Given the description of an element on the screen output the (x, y) to click on. 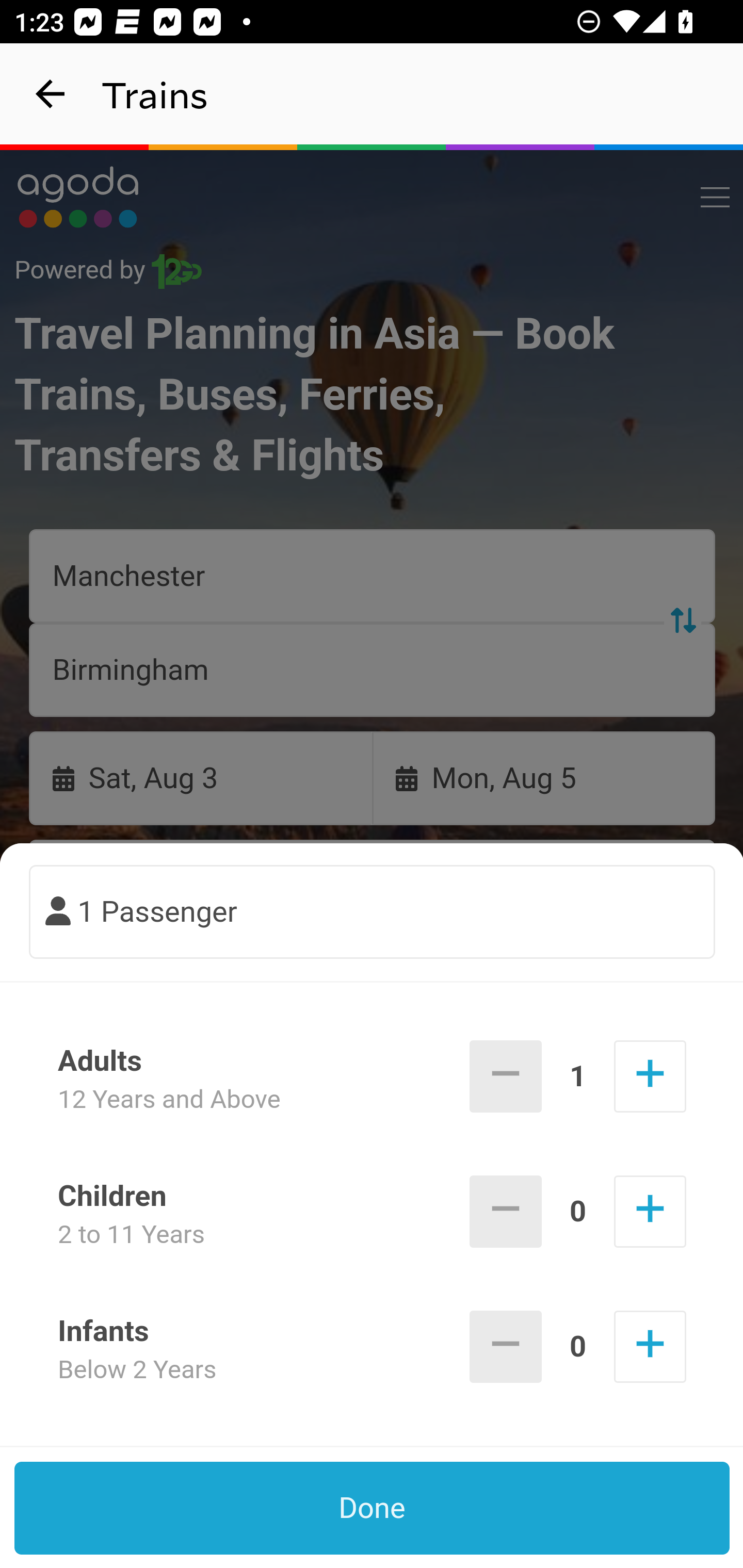
navigation_button (50, 93)
Done (372, 1508)
